Given the description of an element on the screen output the (x, y) to click on. 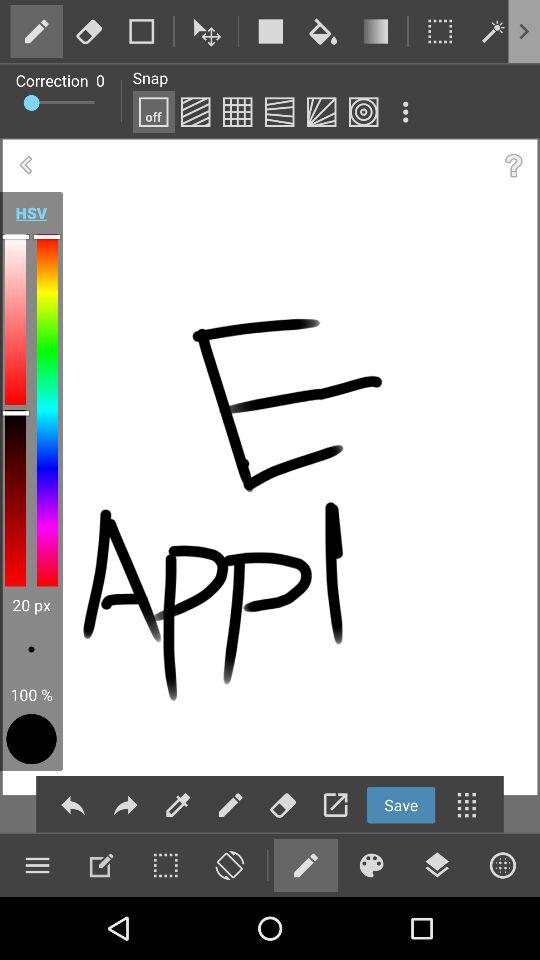
click on the erase icon (282, 804)
click on the frame icon (440, 30)
click on square box which is at the top middle position and also in white color (271, 30)
select the question mark icon (514, 166)
click on the fourth icon from bottom row (229, 865)
select the second box under the text snap (195, 112)
